Given the description of an element on the screen output the (x, y) to click on. 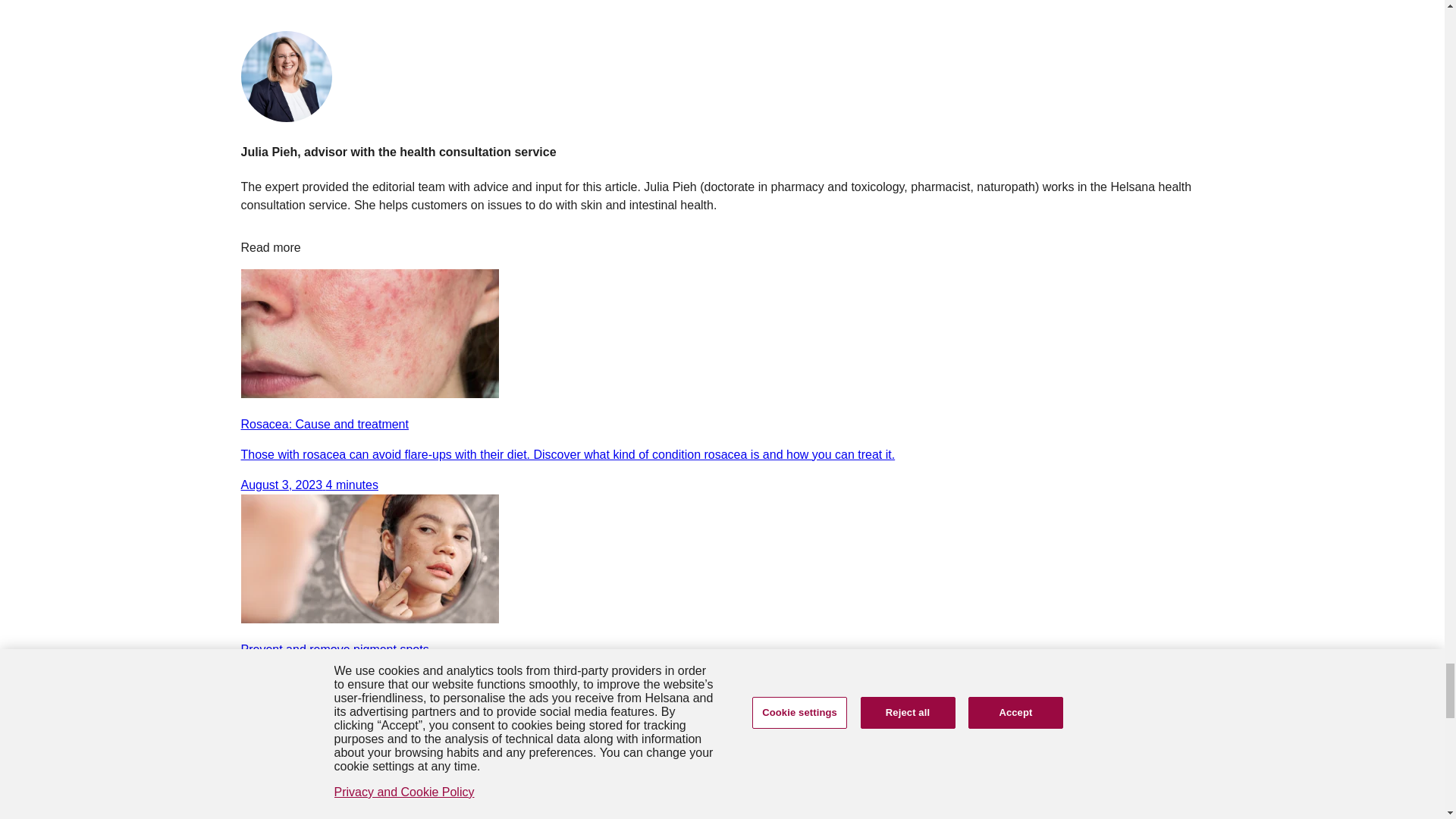
Puberty (722, 783)
Puberty (722, 783)
Topics (722, 765)
Skin (397, 783)
Skin (397, 783)
